Given the description of an element on the screen output the (x, y) to click on. 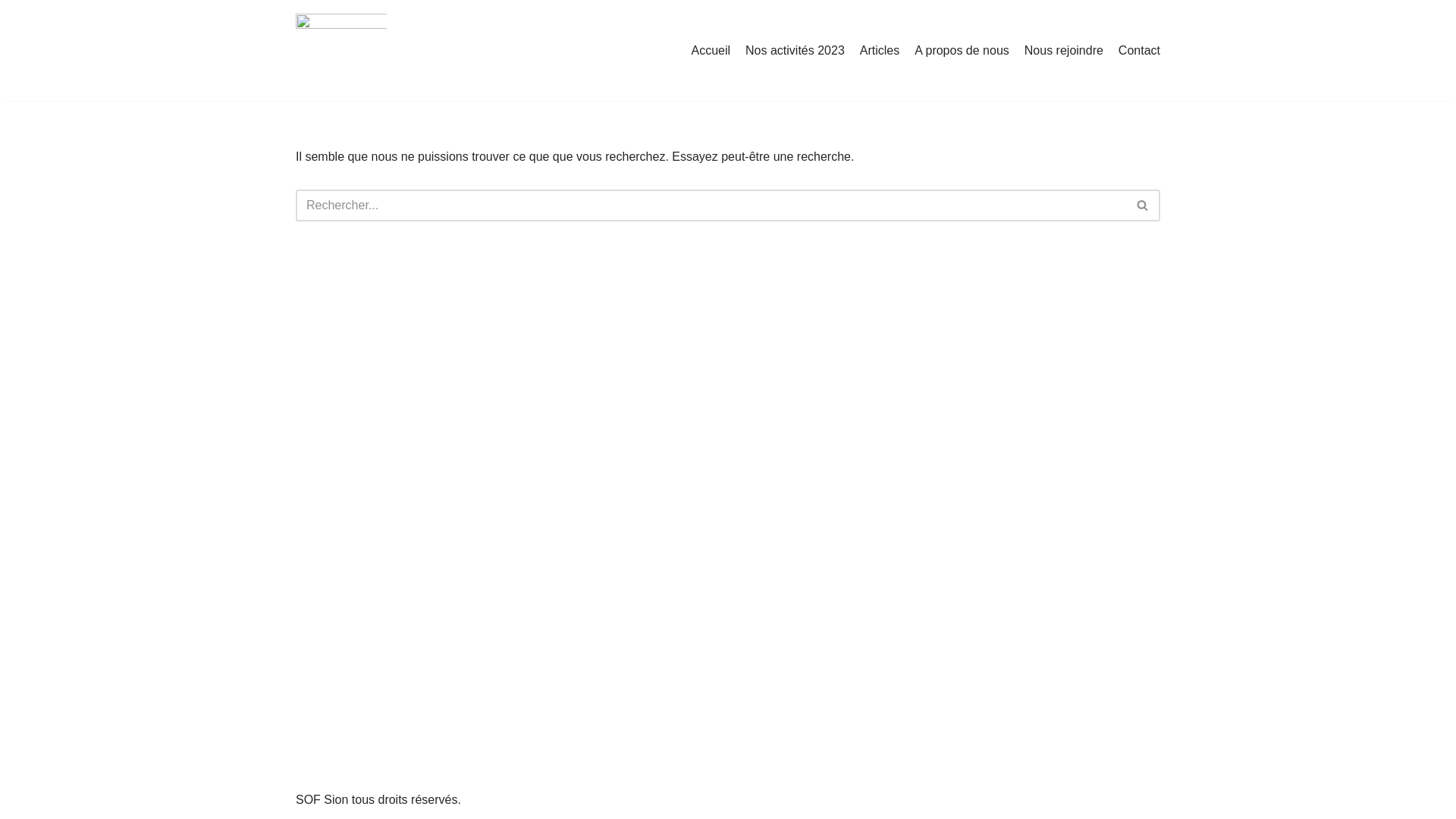
Articles Element type: text (879, 50)
Accueil Element type: text (710, 50)
Aller au contenu Element type: text (11, 31)
Nous rejoindre Element type: text (1063, 50)
Contact Element type: text (1139, 50)
A propos de nous Element type: text (961, 50)
SOF Sion Element type: hover (340, 50)
